Given the description of an element on the screen output the (x, y) to click on. 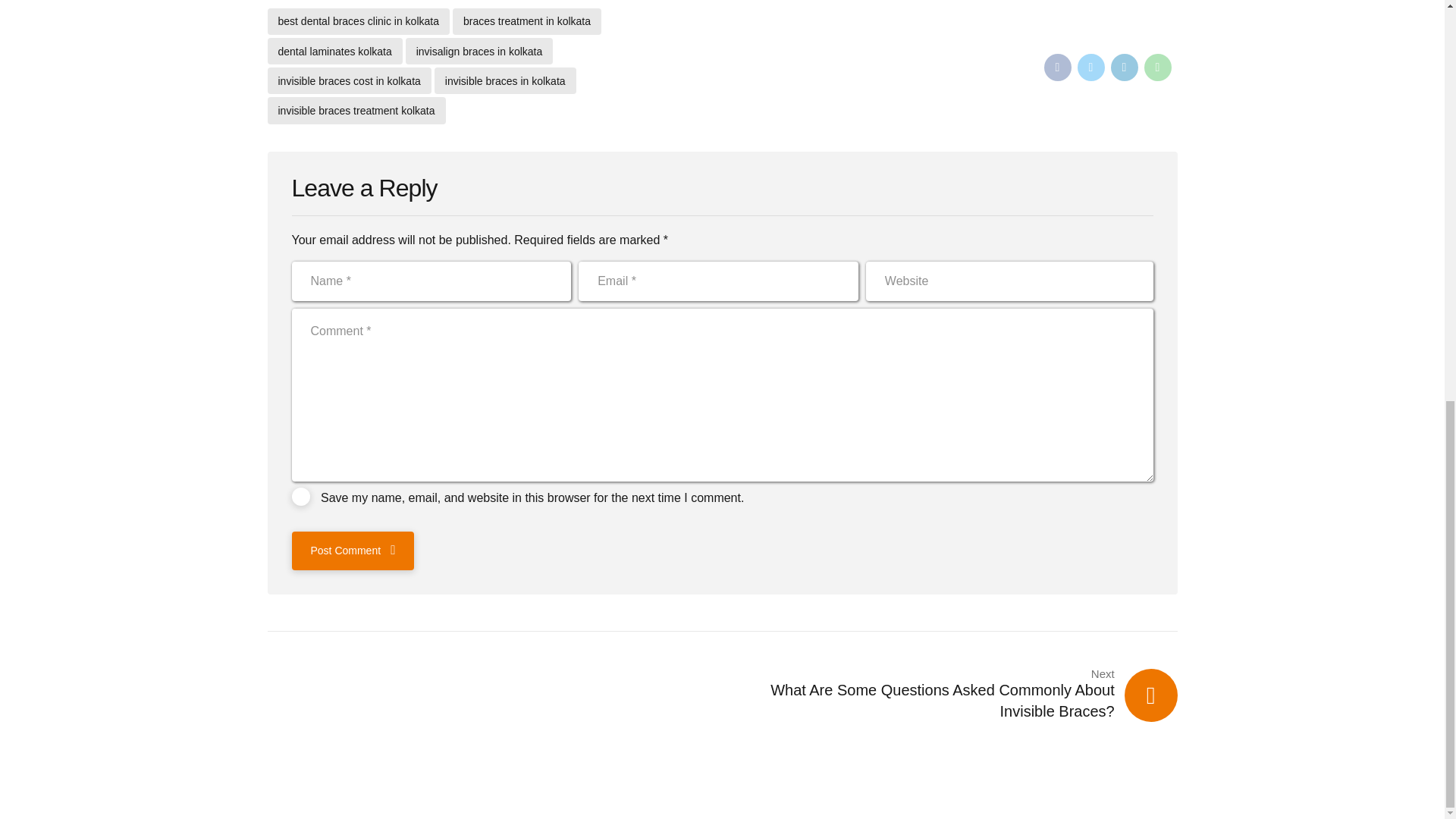
invisible braces in kolkata (504, 80)
yes (299, 496)
braces treatment in kolkata (526, 21)
Share on Twitter (1090, 67)
Post Comment (352, 550)
invisible braces treatment kolkata (355, 110)
Share on Linkedin (1123, 67)
invisalign braces in kolkata (479, 50)
dental laminates kolkata (333, 50)
Share on WhatsApp (1156, 67)
invisible braces cost in kolkata (348, 80)
best dental braces clinic in kolkata (357, 21)
Share on Facebook (1056, 67)
